Given the description of an element on the screen output the (x, y) to click on. 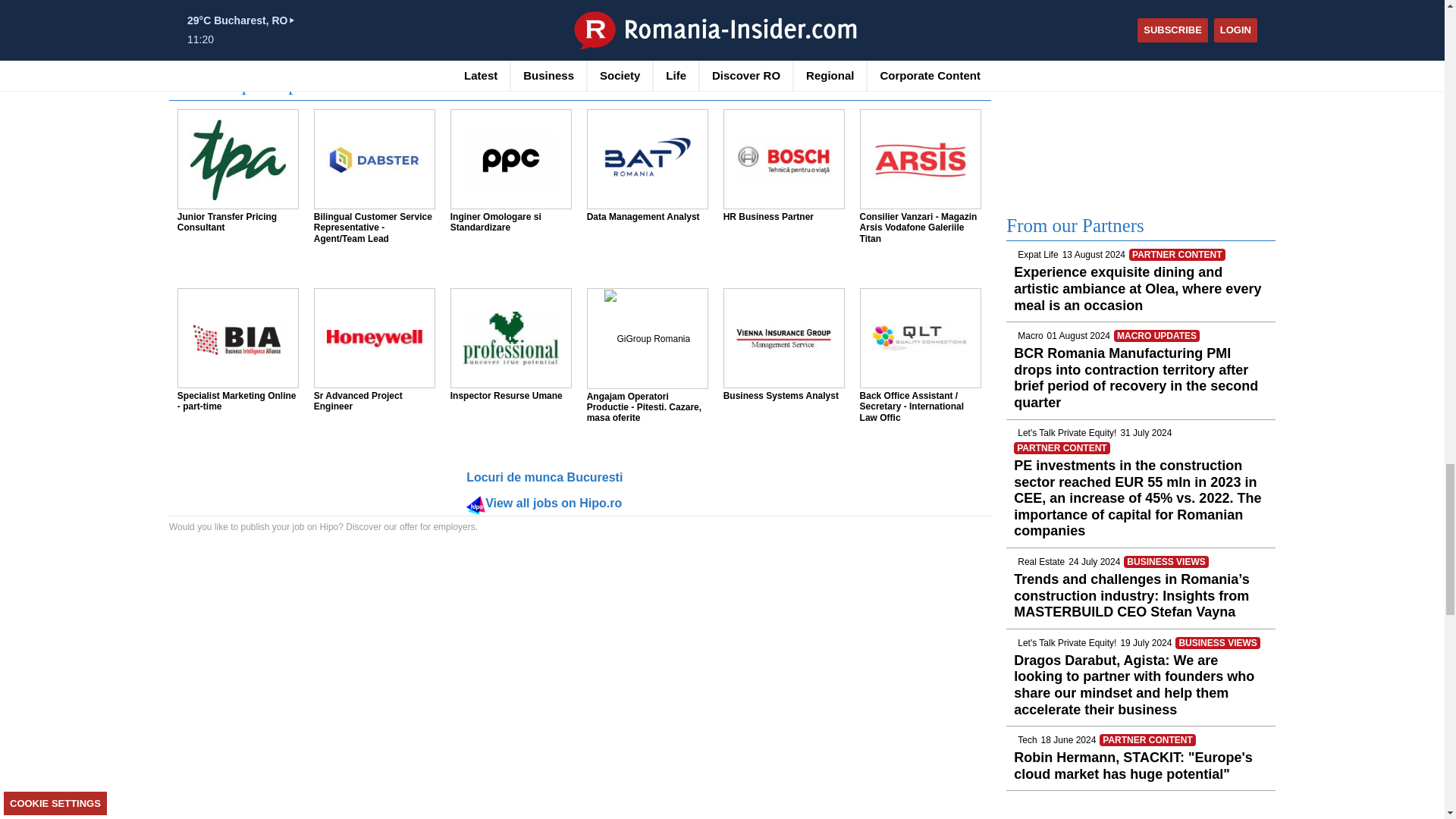
Consilier Vanzari - Magazin Arsis Vodafone Galeriile Titan (920, 159)
Inspector Resurse Umane (511, 338)
Inginer Omologare si Standardizare (511, 159)
Sr Advanced Project Engineer (374, 338)
Data Management Analyst (647, 159)
HR Business Partner (783, 159)
Junior Transfer Pricing Consultant (238, 159)
Specialist Marketing Online - part-time (238, 337)
Business Systems Analyst (783, 338)
